Given the description of an element on the screen output the (x, y) to click on. 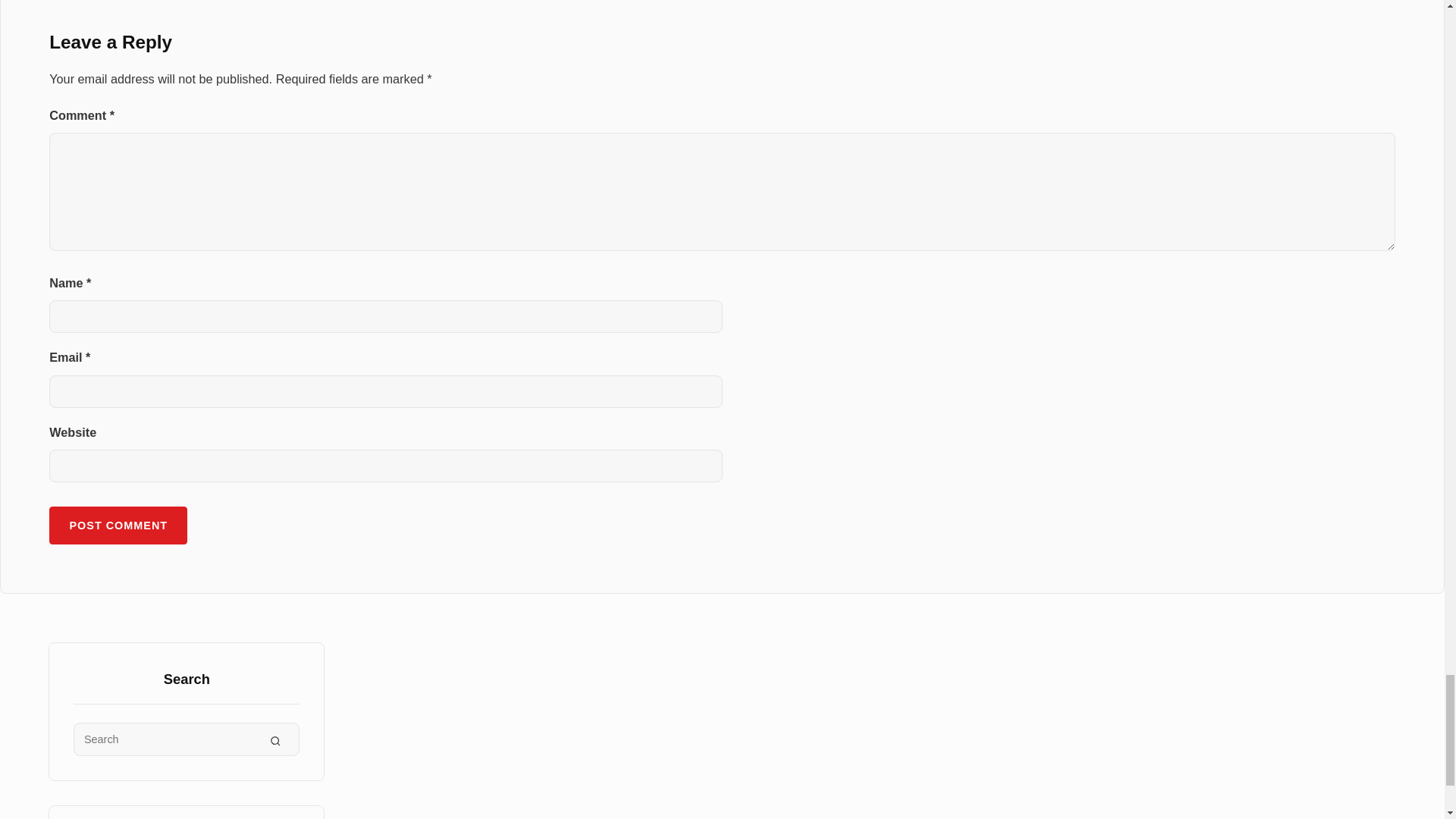
Post Comment (118, 524)
Search for: (186, 738)
SEARCH (274, 738)
Post Comment (118, 524)
